Given the description of an element on the screen output the (x, y) to click on. 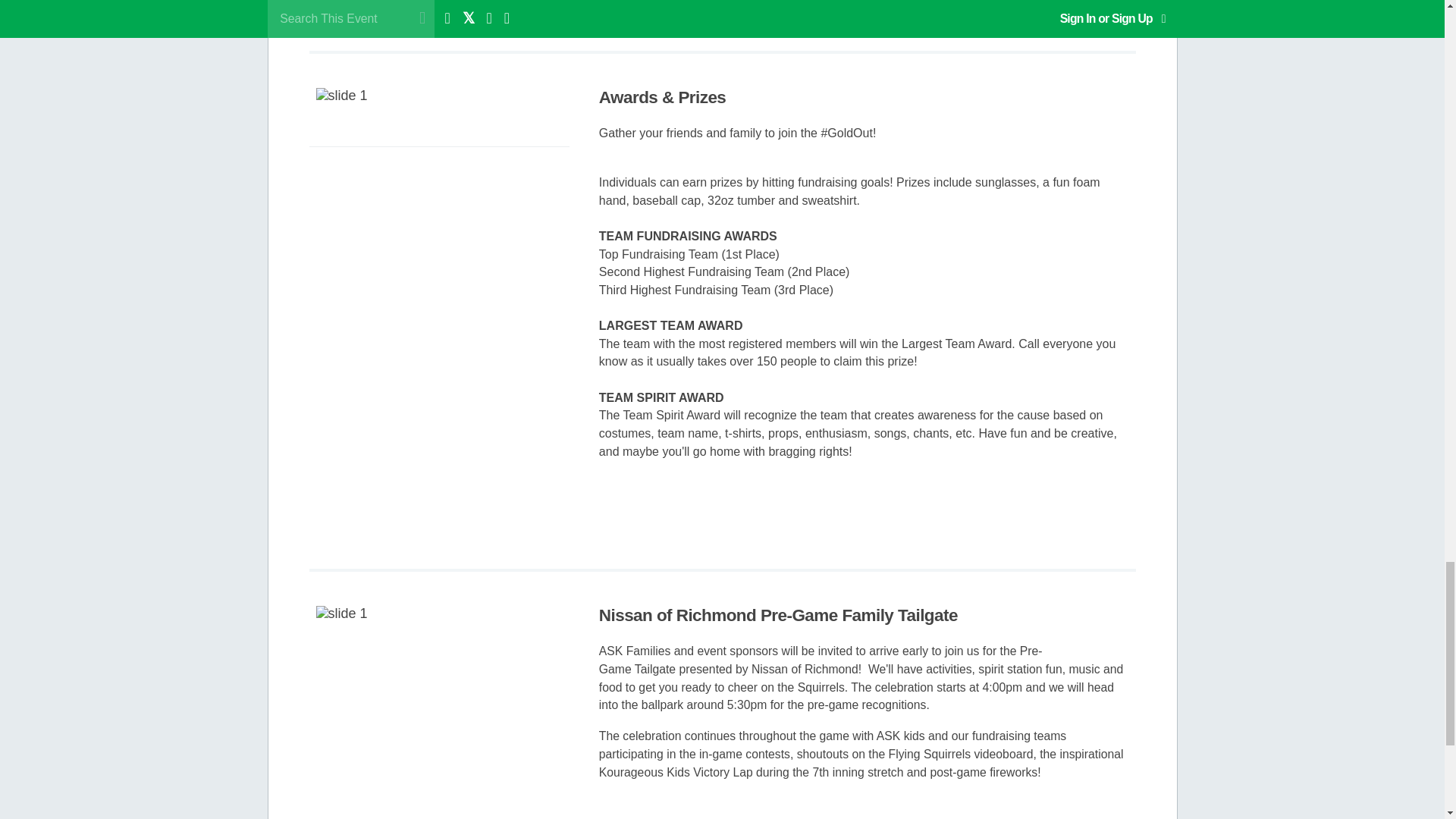
Prizes (438, 189)
